Given the description of an element on the screen output the (x, y) to click on. 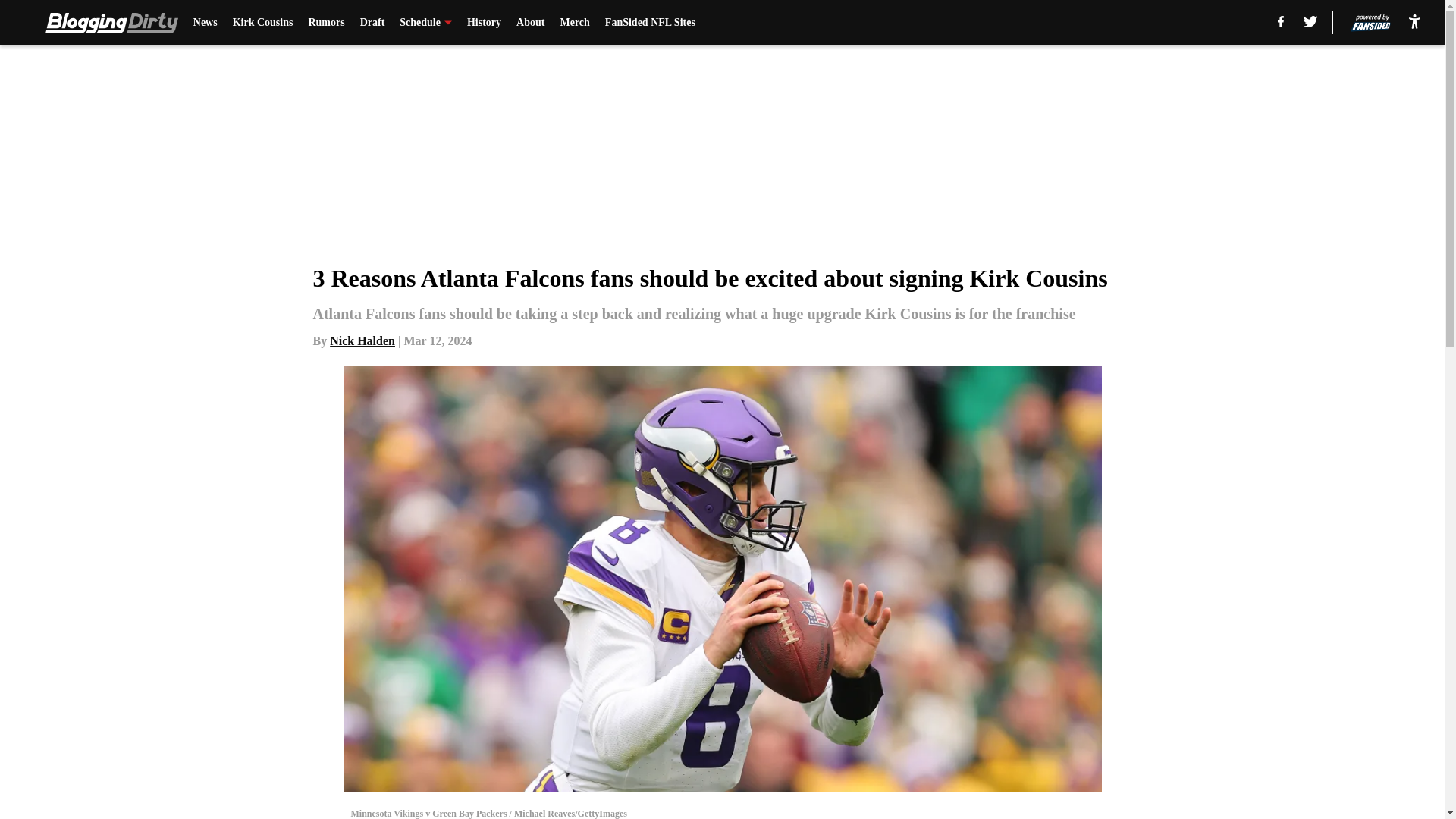
Nick Halden (362, 340)
FanSided NFL Sites (650, 22)
Rumors (325, 22)
Merch (574, 22)
History (483, 22)
Draft (372, 22)
Kirk Cousins (263, 22)
About (530, 22)
News (204, 22)
